Given the description of an element on the screen output the (x, y) to click on. 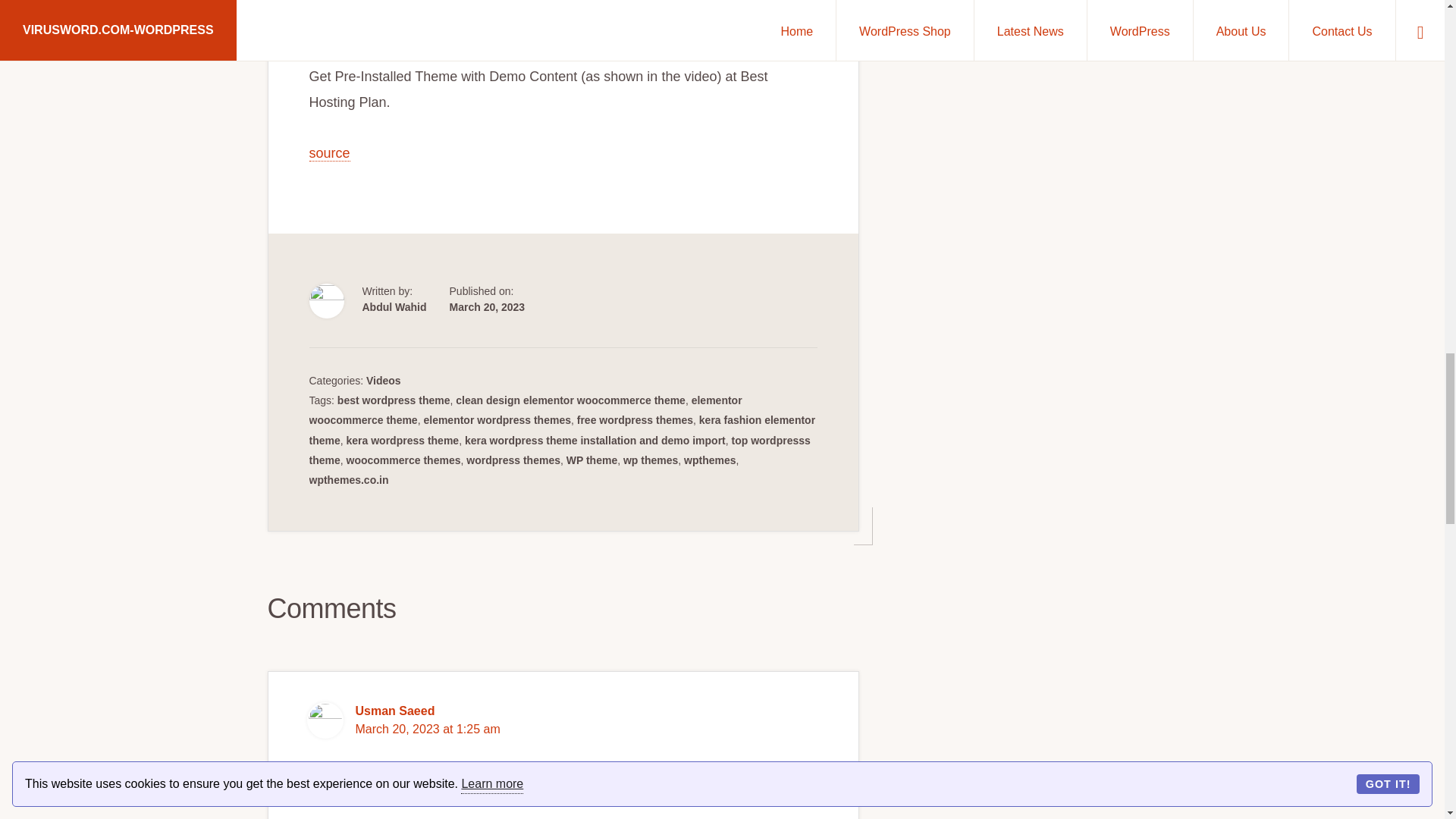
Videos (383, 380)
Abdul Wahid (394, 306)
clean design elementor woocommerce theme (570, 399)
elementor woocommerce theme (525, 409)
source (329, 153)
best wordpress theme (393, 399)
